Given the description of an element on the screen output the (x, y) to click on. 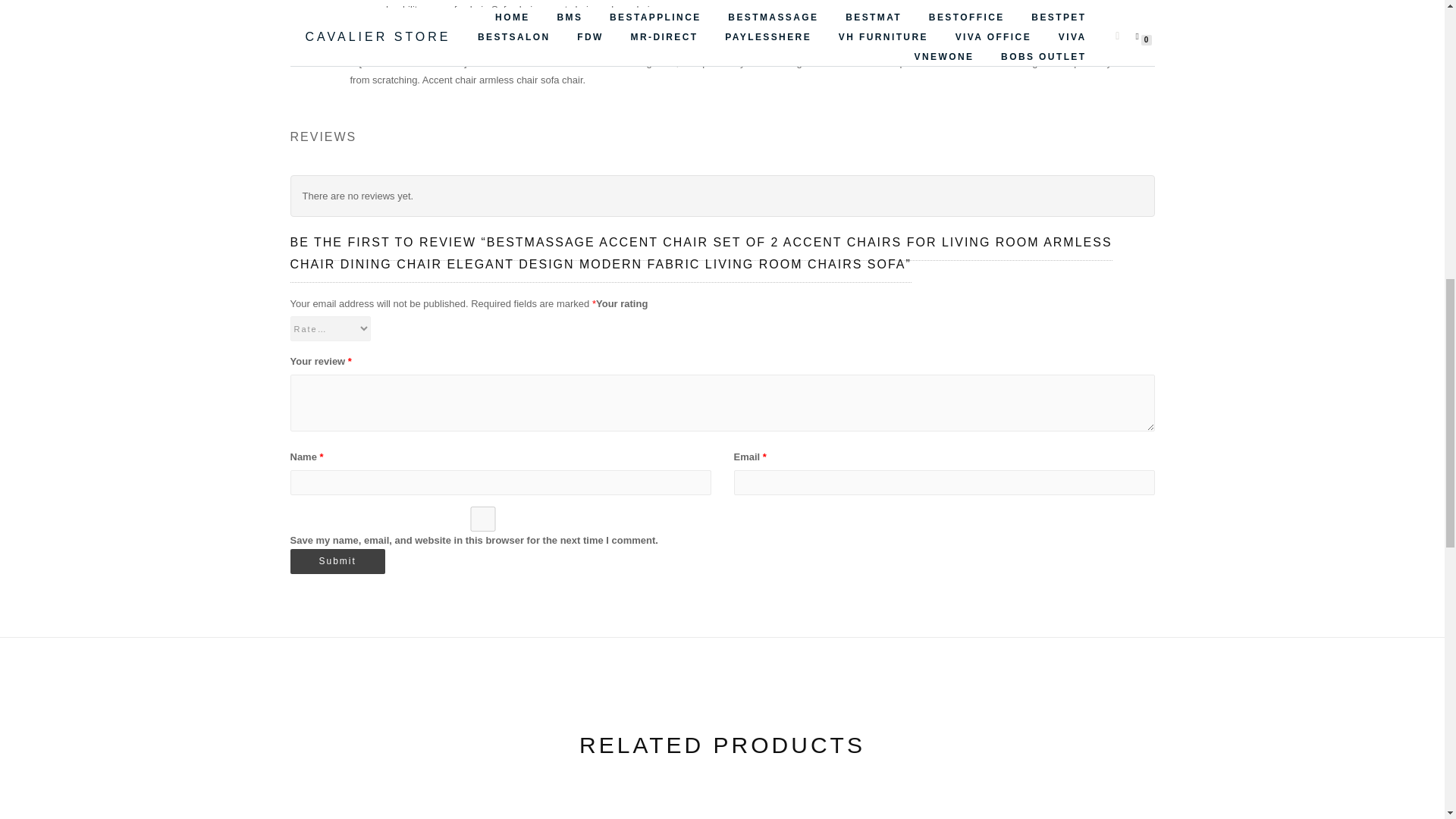
Submit (336, 561)
Submit (336, 561)
yes (482, 518)
